Given the description of an element on the screen output the (x, y) to click on. 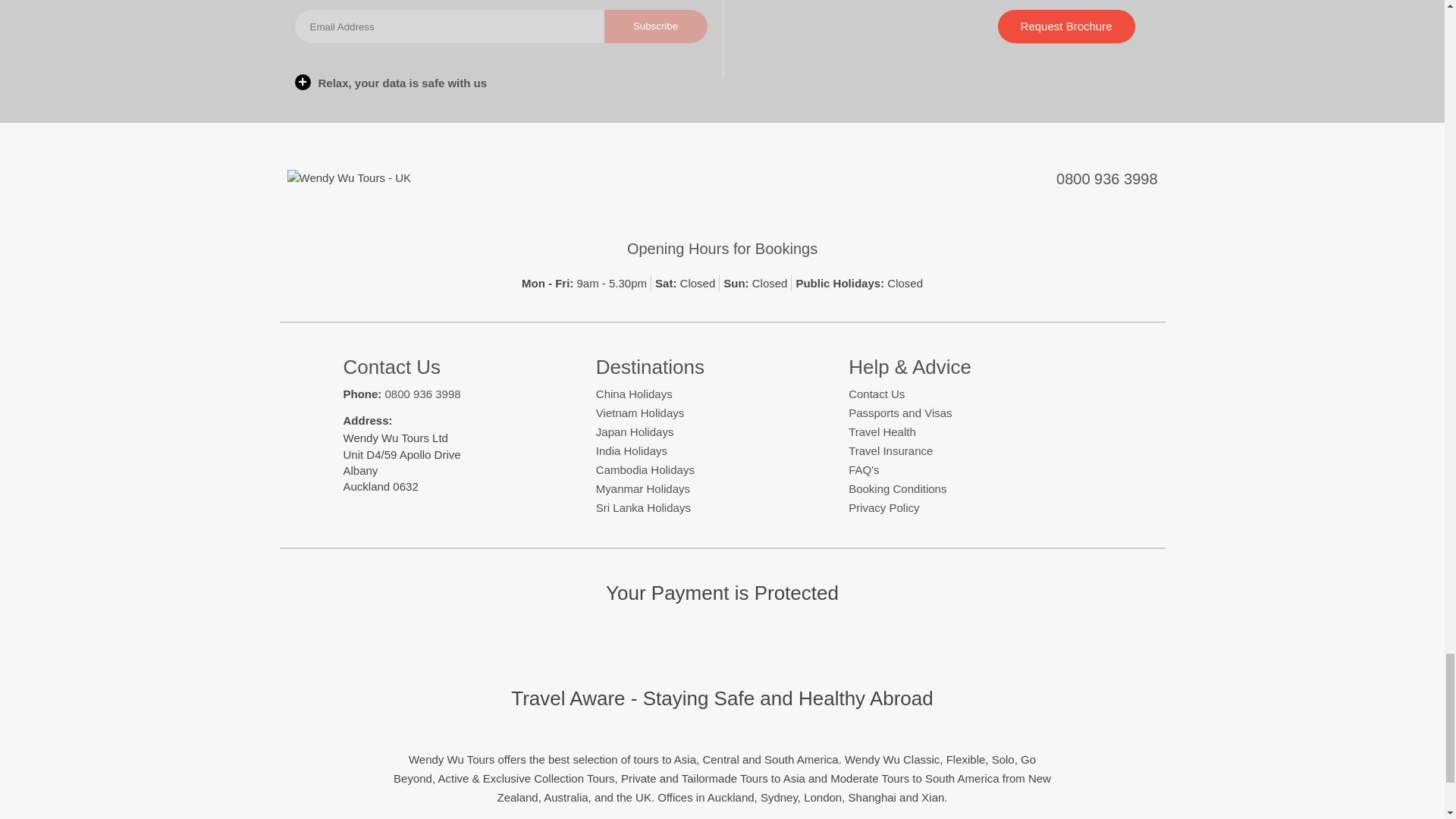
Facebook (672, 180)
